Given the description of an element on the screen output the (x, y) to click on. 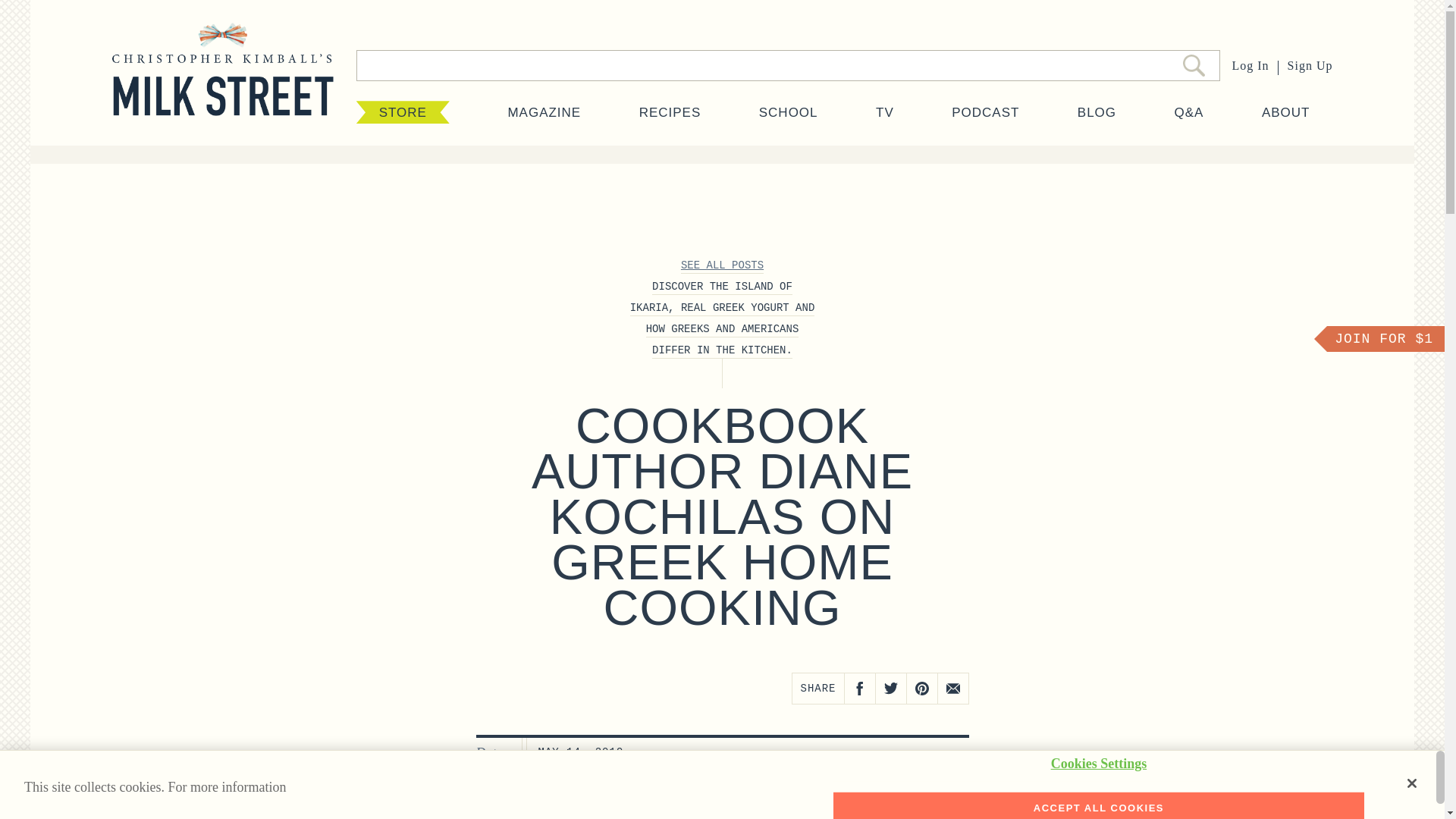
Christopher Kimball's Milk Street (222, 85)
Search (1193, 65)
Log In (1249, 65)
Sign Up (1310, 65)
MAGAZINE (543, 112)
STORE (402, 112)
